Given the description of an element on the screen output the (x, y) to click on. 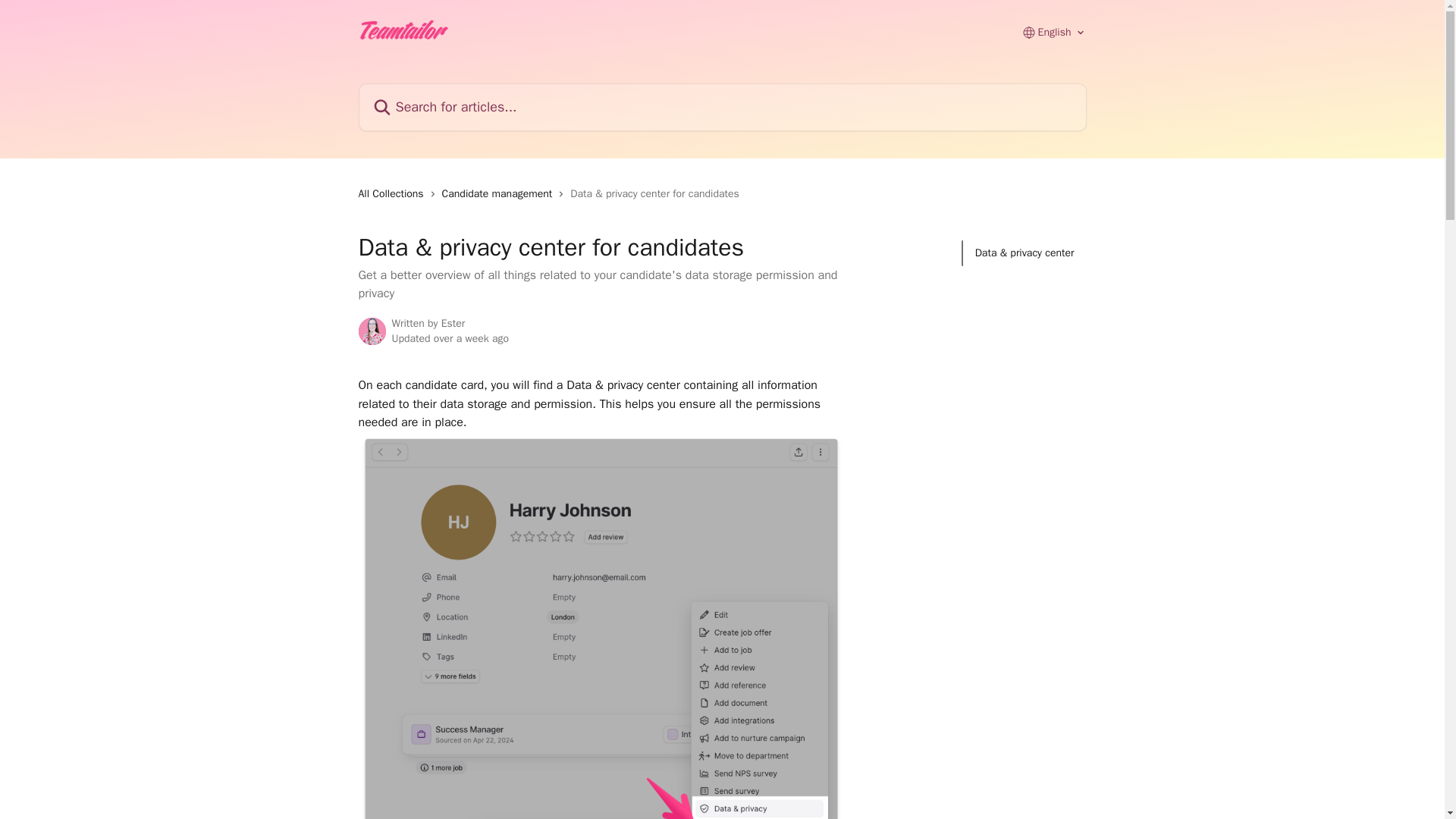
All Collections (393, 193)
Candidate management (500, 193)
